Given the description of an element on the screen output the (x, y) to click on. 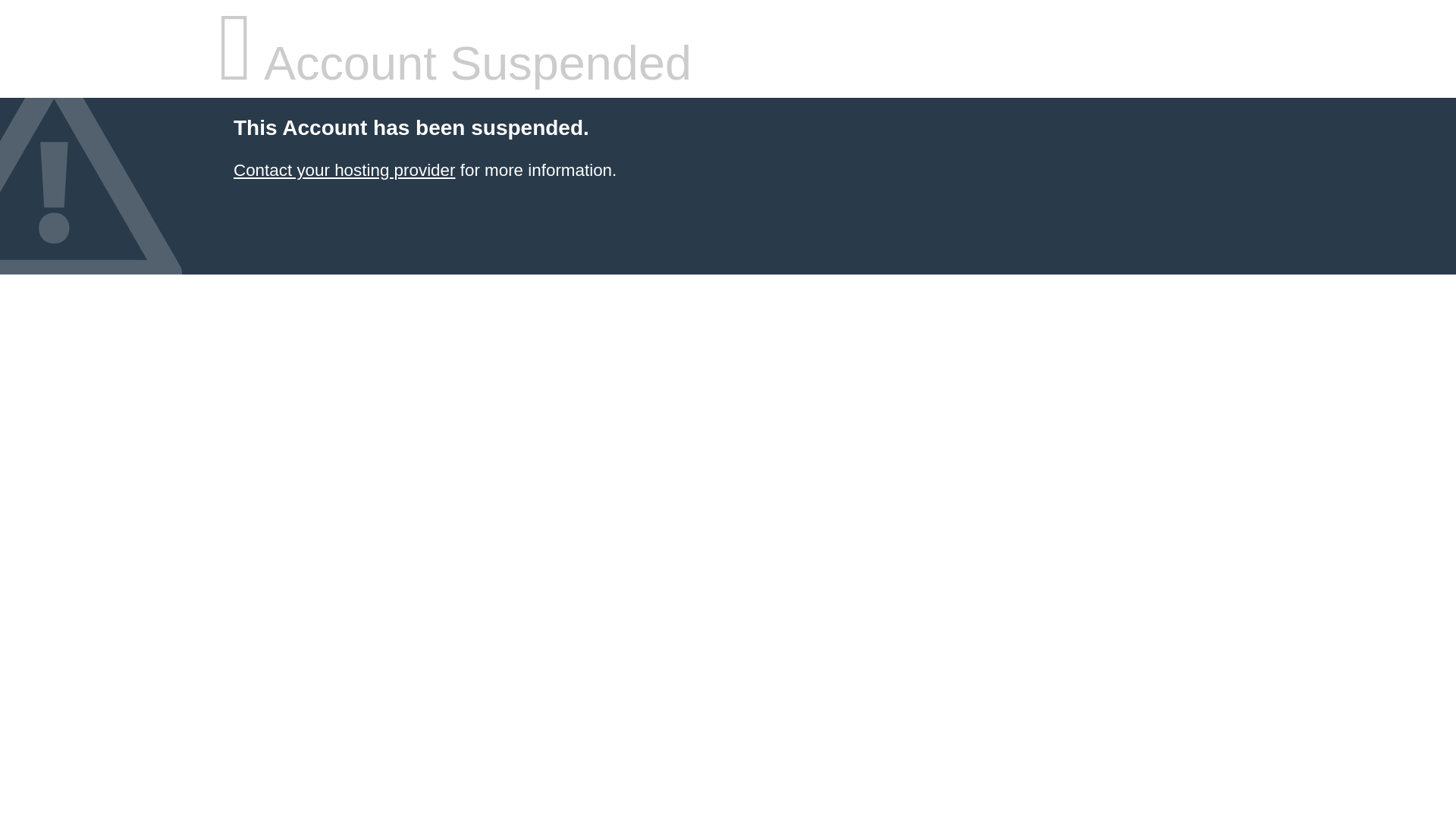
Contact your hosting provider (343, 169)
